Given the description of an element on the screen output the (x, y) to click on. 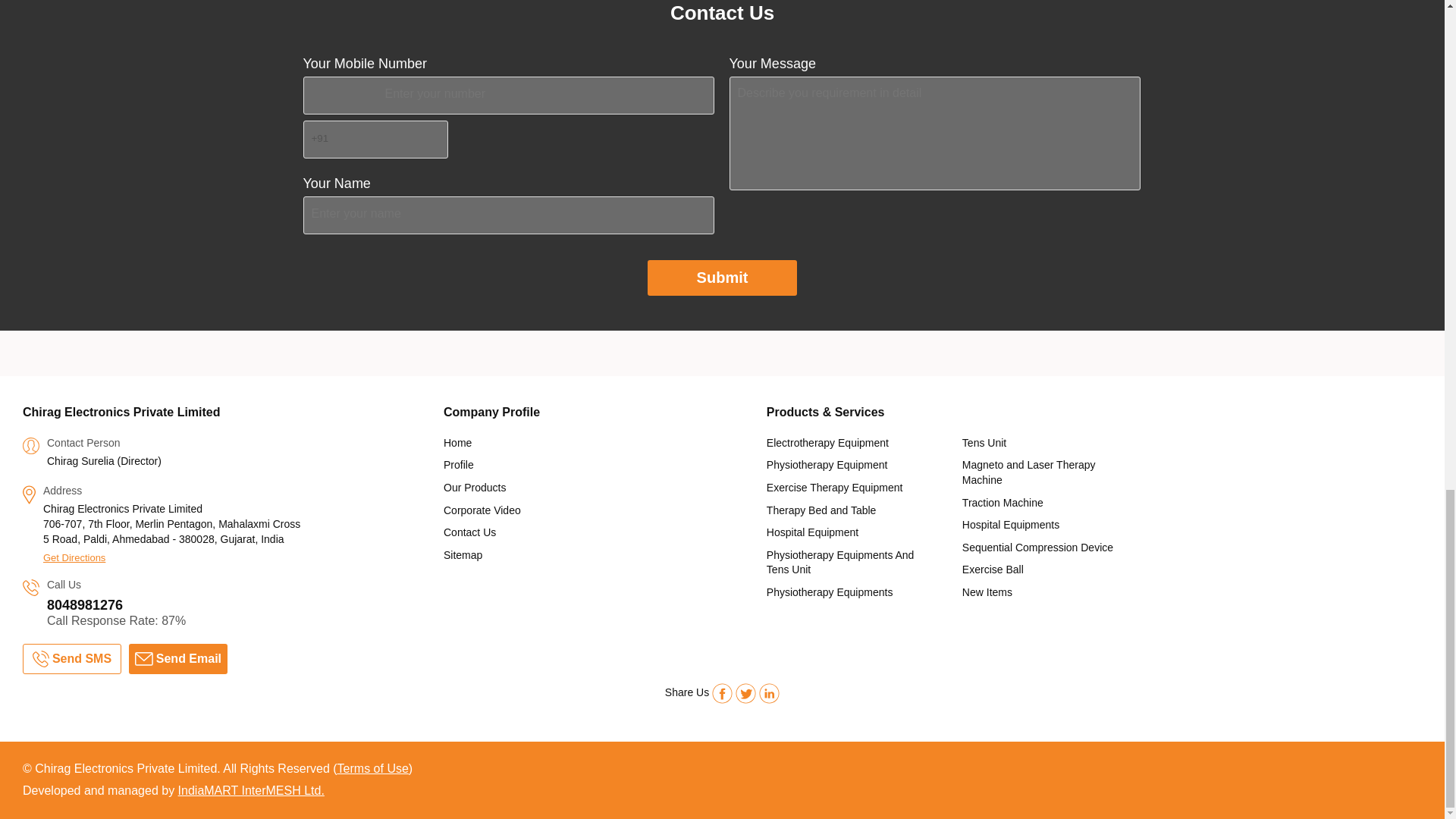
Submit (722, 277)
